Given the description of an element on the screen output the (x, y) to click on. 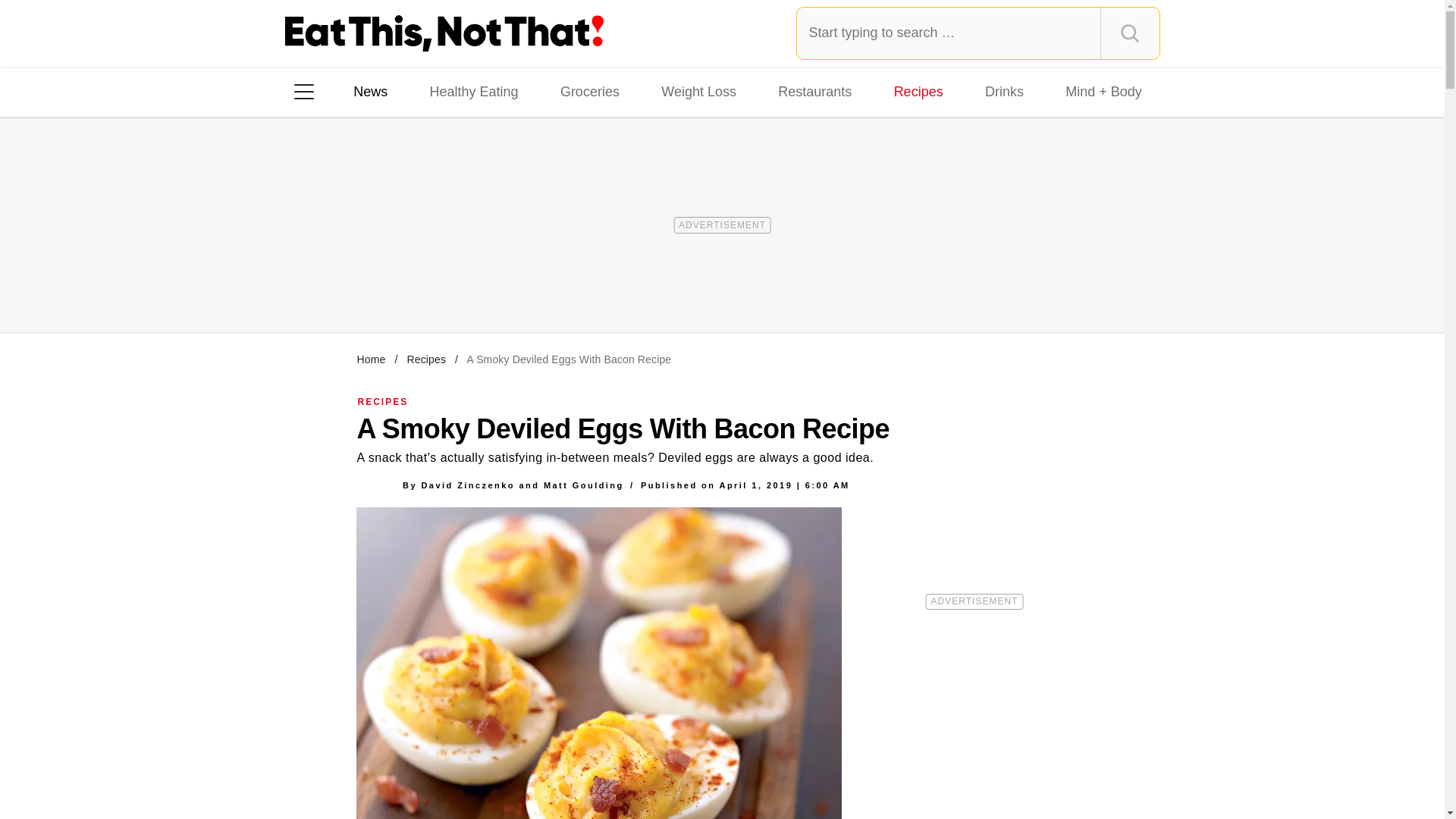
David Zinczenko and Matt Goulding (521, 484)
Recipes (918, 91)
Instagram (357, 287)
Facebook (314, 287)
TikTok (399, 287)
Eat This Not That Homepage (444, 33)
Healthy Eating (473, 91)
TikTok (399, 287)
Drinks (1003, 91)
Restaurants (814, 91)
RECIPES (383, 401)
Type and press Enter to search (978, 32)
Facebook (314, 287)
Groceries (590, 91)
Recipes (425, 358)
